Given the description of an element on the screen output the (x, y) to click on. 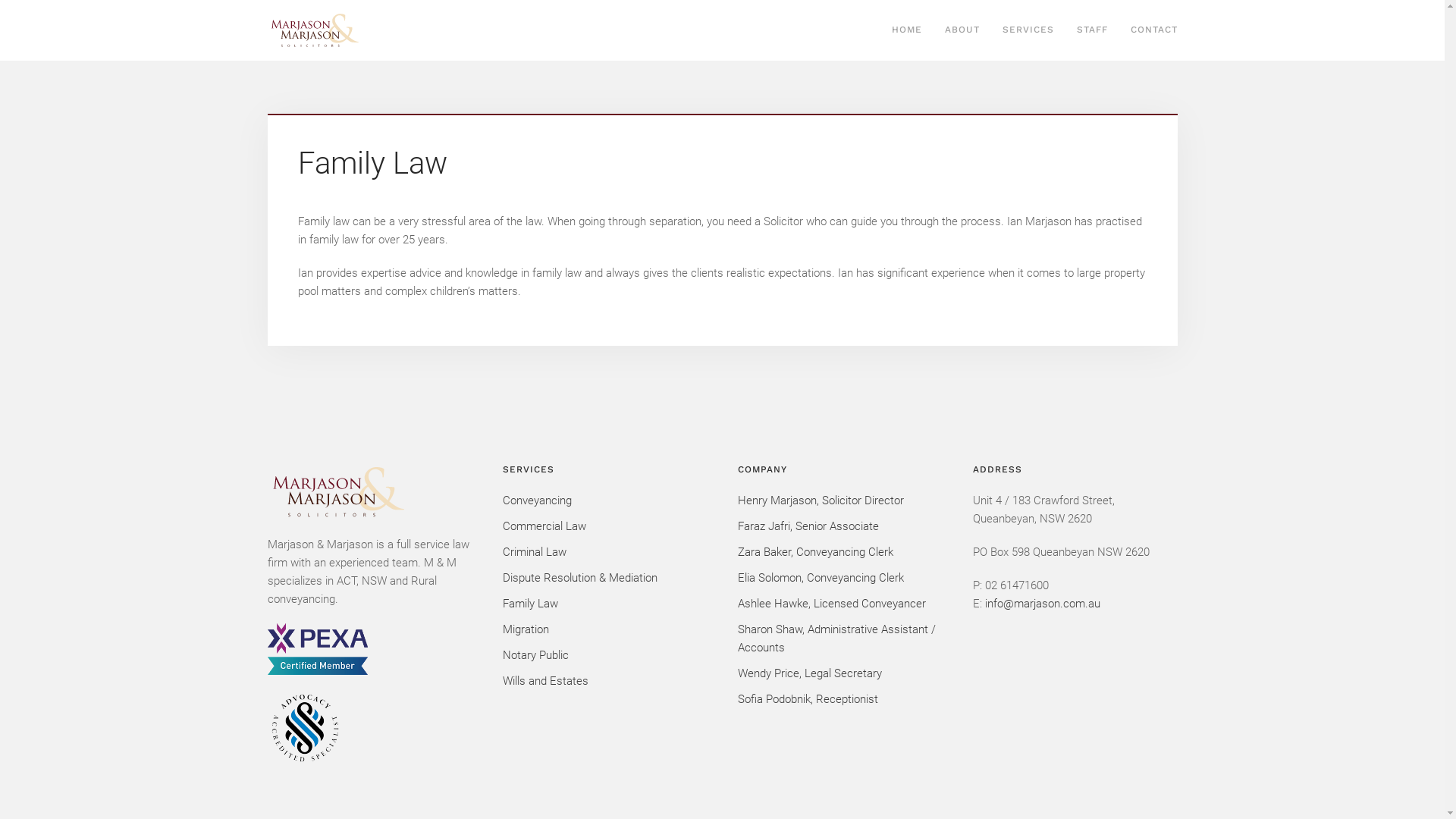
Faraz Jafri, Senior Associate Element type: text (839, 526)
Criminal Law Element type: text (604, 551)
Conveyancing Element type: text (604, 500)
Elia Solomon, Conveyancing Clerk Element type: text (839, 577)
Henry Marjason, Solicitor Director Element type: text (839, 500)
Ashlee Hawke, Licensed Conveyancer Element type: text (839, 603)
Wills and Estates Element type: text (604, 680)
HOME Element type: text (905, 30)
ABOUT Element type: text (961, 30)
Dispute Resolution & Mediation Element type: text (604, 577)
Family Law Element type: text (604, 603)
CONTACT Element type: text (1154, 30)
Wendy Price, Legal Secretary Element type: text (839, 673)
Notary Public Element type: text (604, 655)
info@marjason.com.au Element type: text (1041, 603)
Sofia Podobnik, Receptionist Element type: text (839, 699)
Zara Baker, Conveyancing Clerk Element type: text (839, 551)
STAFF Element type: text (1091, 30)
Commercial Law Element type: text (604, 526)
SERVICES Element type: text (1027, 30)
Migration Element type: text (604, 629)
Sharon Shaw, Administrative Assistant / Accounts Element type: text (839, 638)
